Given the description of an element on the screen output the (x, y) to click on. 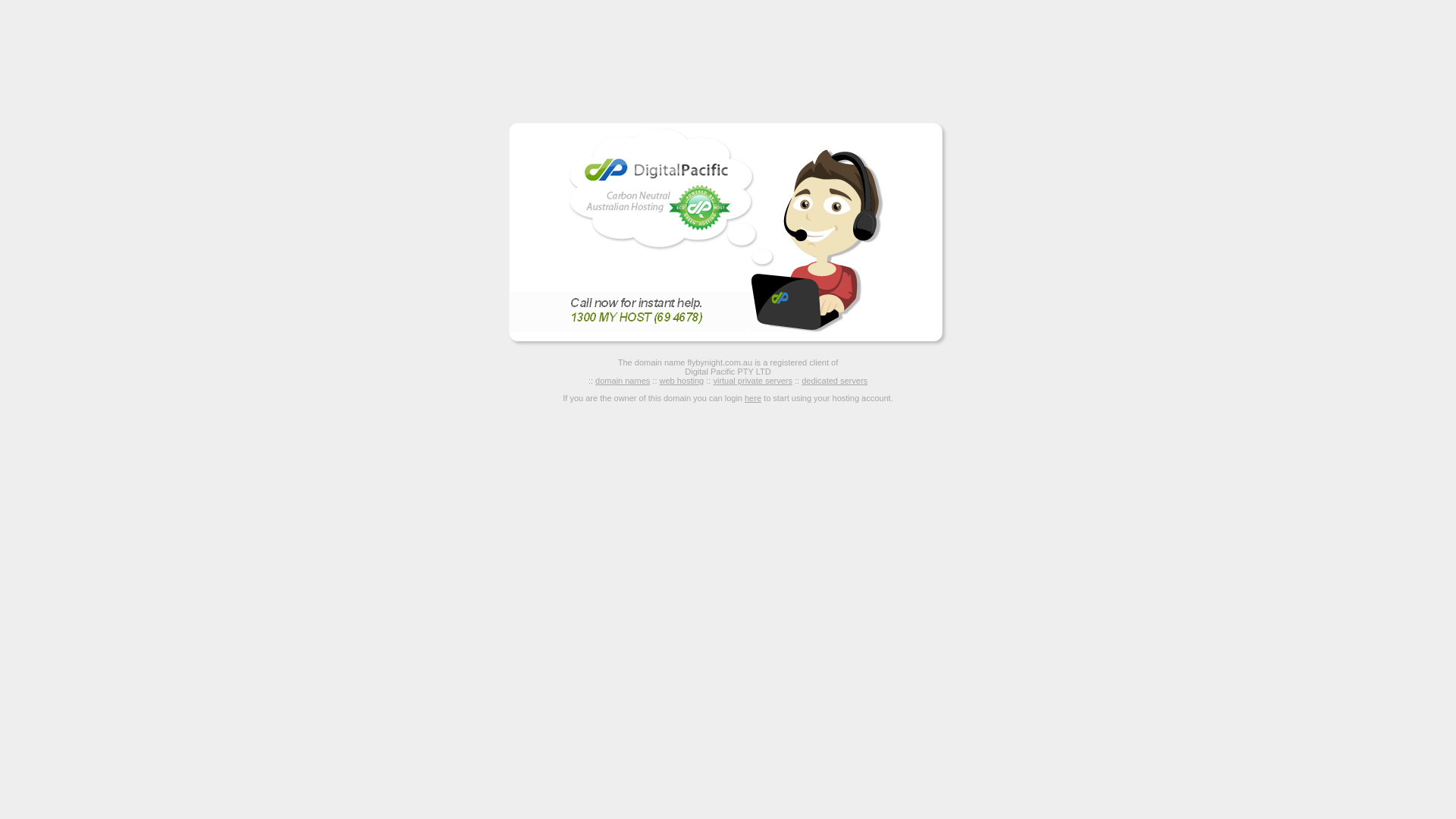
virtual private servers Element type: text (752, 380)
dedicated servers Element type: text (834, 380)
here Element type: text (752, 397)
domain names Element type: text (622, 380)
web hosting Element type: text (681, 380)
